Given the description of an element on the screen output the (x, y) to click on. 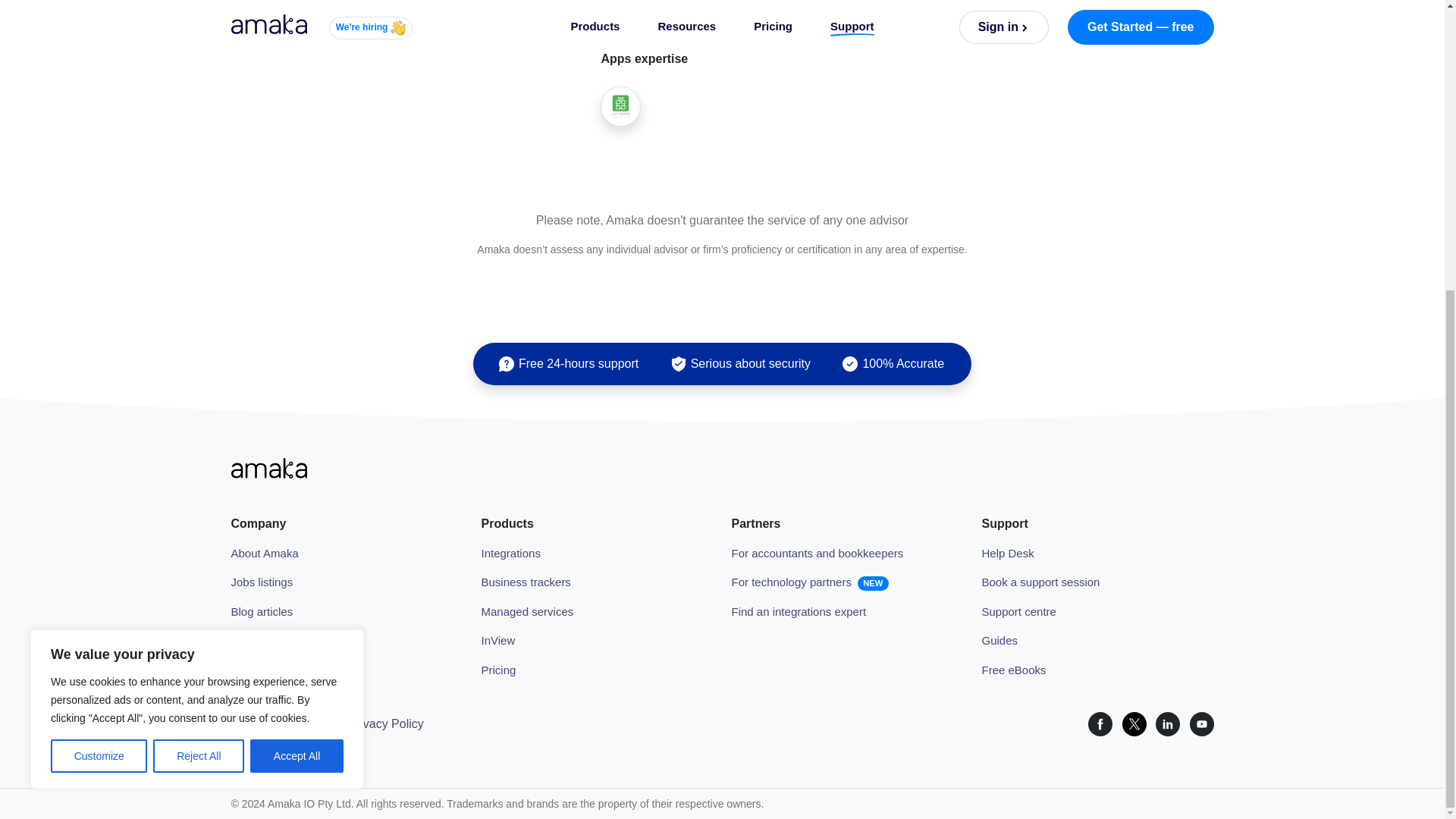
Reject All (198, 314)
Customize (98, 314)
Accept All (296, 314)
